Given the description of an element on the screen output the (x, y) to click on. 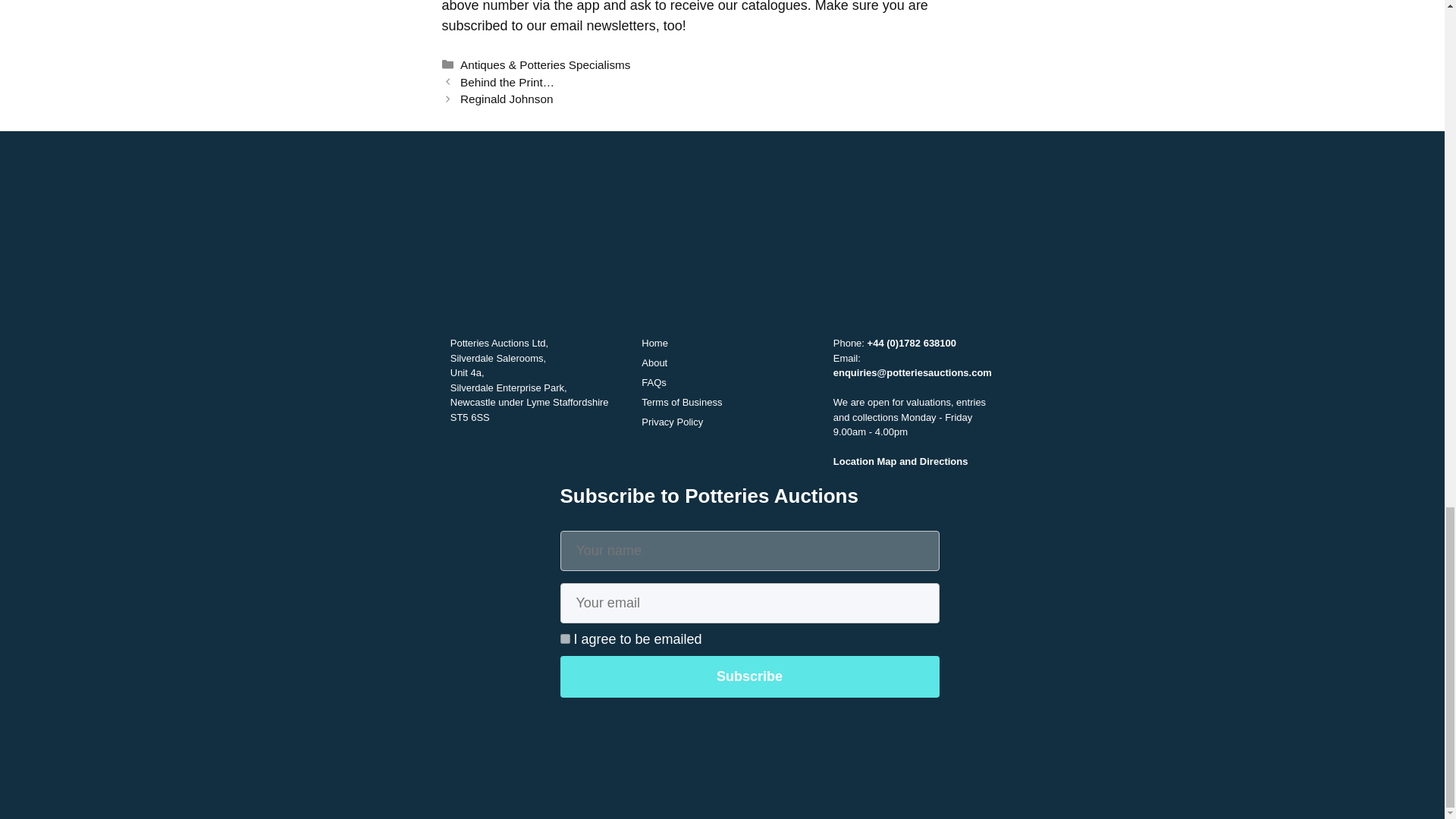
FAQs (654, 382)
Subscribe (749, 676)
About (654, 363)
Privacy Policy (672, 421)
on (564, 638)
Reginald Johnson (506, 98)
Home (655, 343)
Location Map and Directions (900, 460)
Terms of Business (682, 402)
Phone: (849, 342)
